Given the description of an element on the screen output the (x, y) to click on. 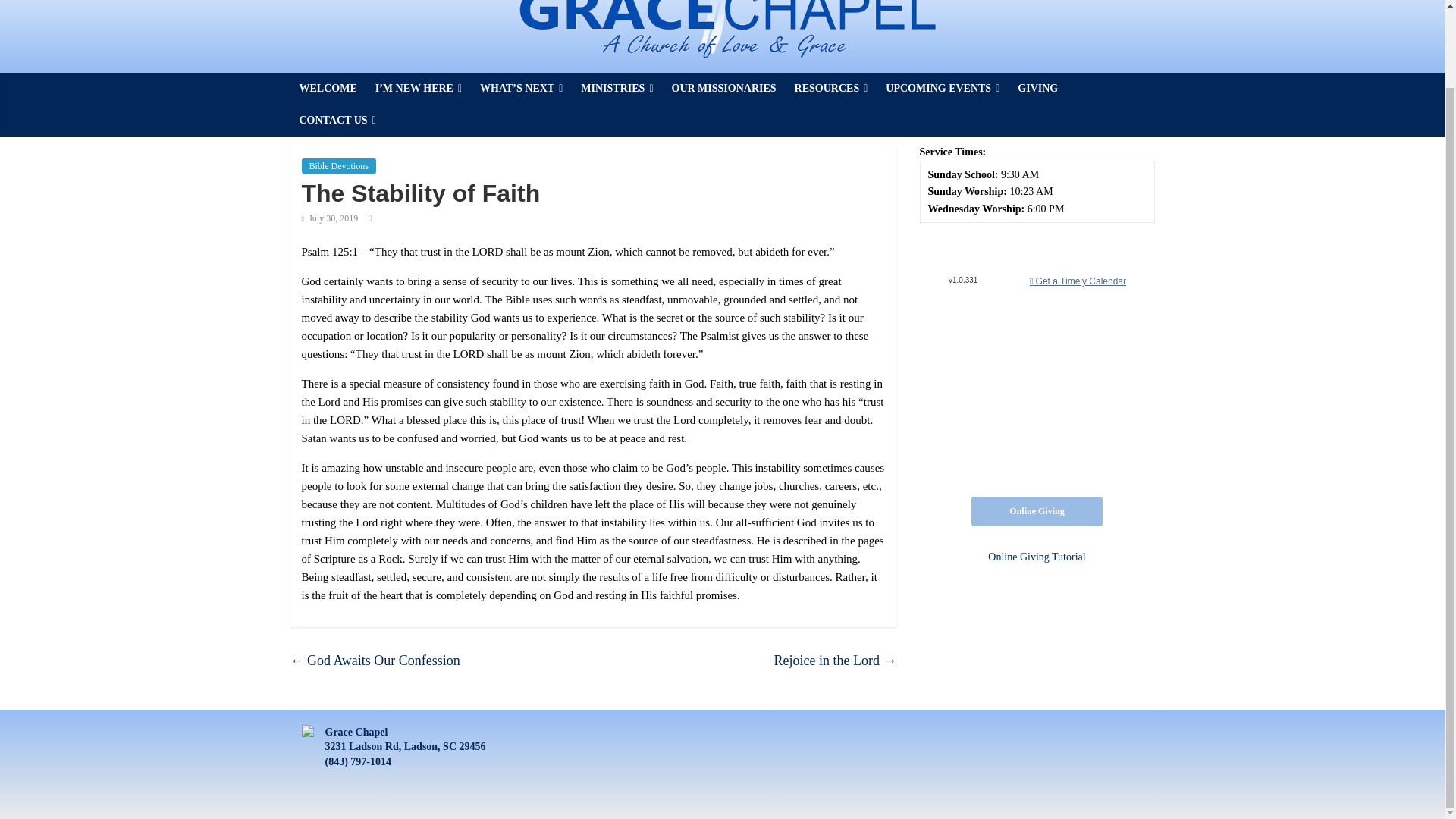
CONTACT US (336, 120)
timely-iframe-embed-0 (1036, 360)
WELCOME (327, 88)
MINISTRIES (617, 88)
UPCOMING EVENTS (942, 88)
RESOURCES (831, 88)
Bible Devotions (338, 165)
OUR MISSIONARIES (724, 88)
8:32 pm (329, 217)
GIVING (1038, 88)
